Given the description of an element on the screen output the (x, y) to click on. 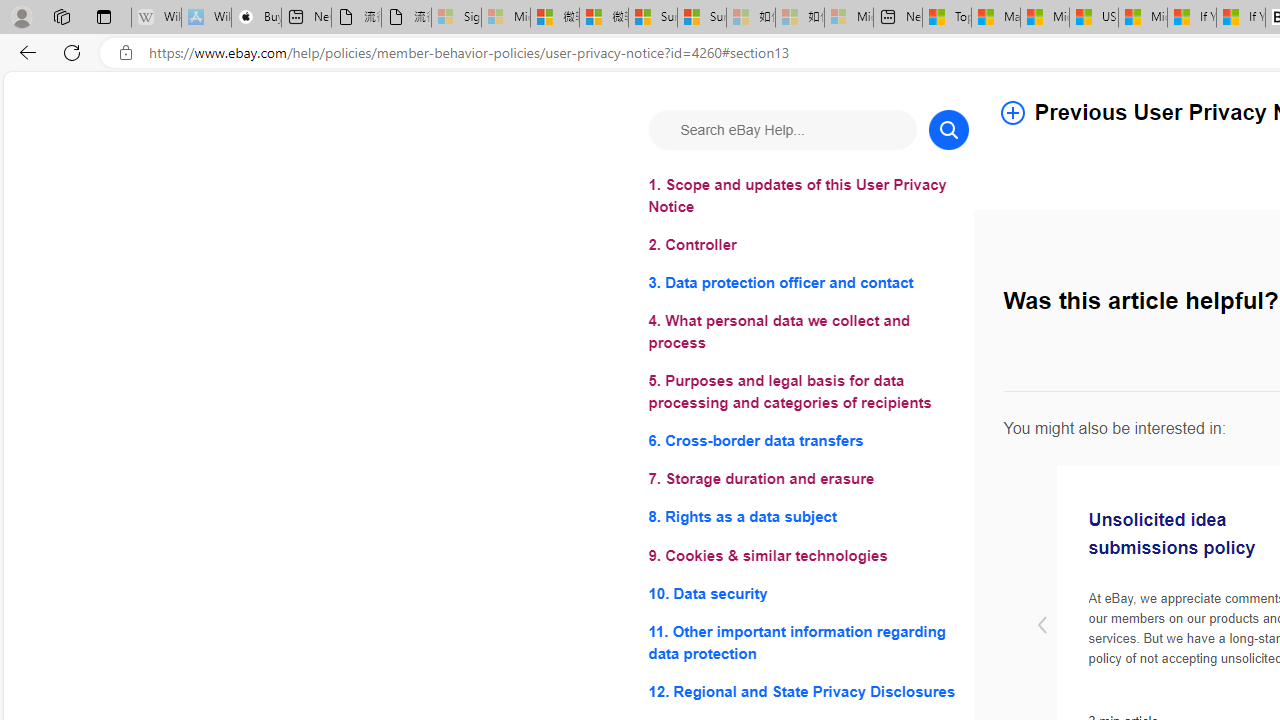
Sign in to your Microsoft account - Sleeping (456, 17)
2. Controller (807, 245)
8. Rights as a data subject (807, 517)
12. Regional and State Privacy Disclosures (807, 690)
3. Data protection officer and contact (807, 283)
7. Storage duration and erasure (807, 479)
11. Other important information regarding data protection (807, 642)
Marine life - MSN (995, 17)
